Given the description of an element on the screen output the (x, y) to click on. 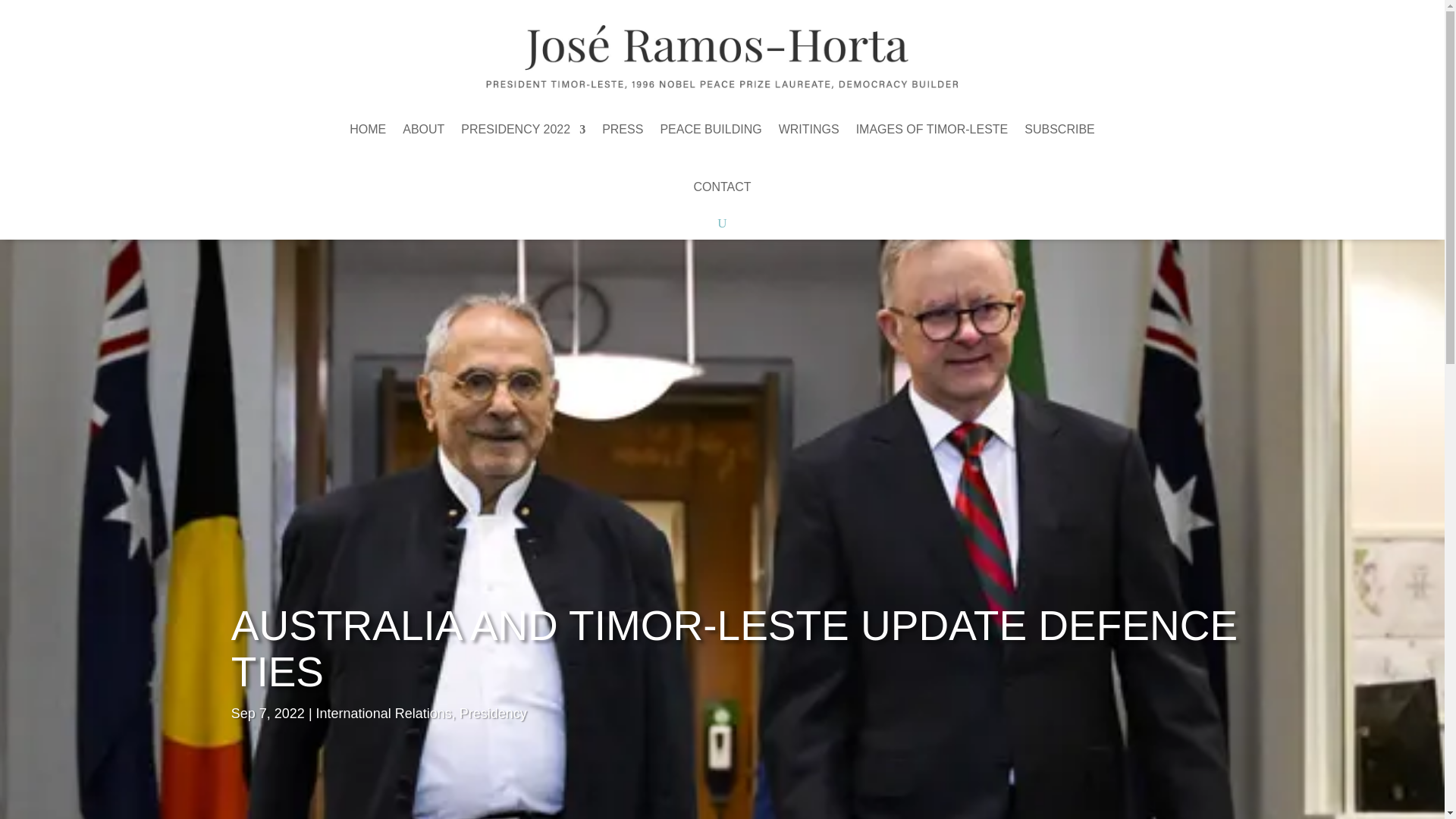
SUBSCRIBE (1059, 129)
WRITINGS (809, 129)
International Relations (383, 713)
PRESIDENCY 2022 (523, 129)
Presidency (493, 713)
PEACE BUILDING (710, 129)
CONTACT (722, 187)
IMAGES OF TIMOR-LESTE (932, 129)
